Given the description of an element on the screen output the (x, y) to click on. 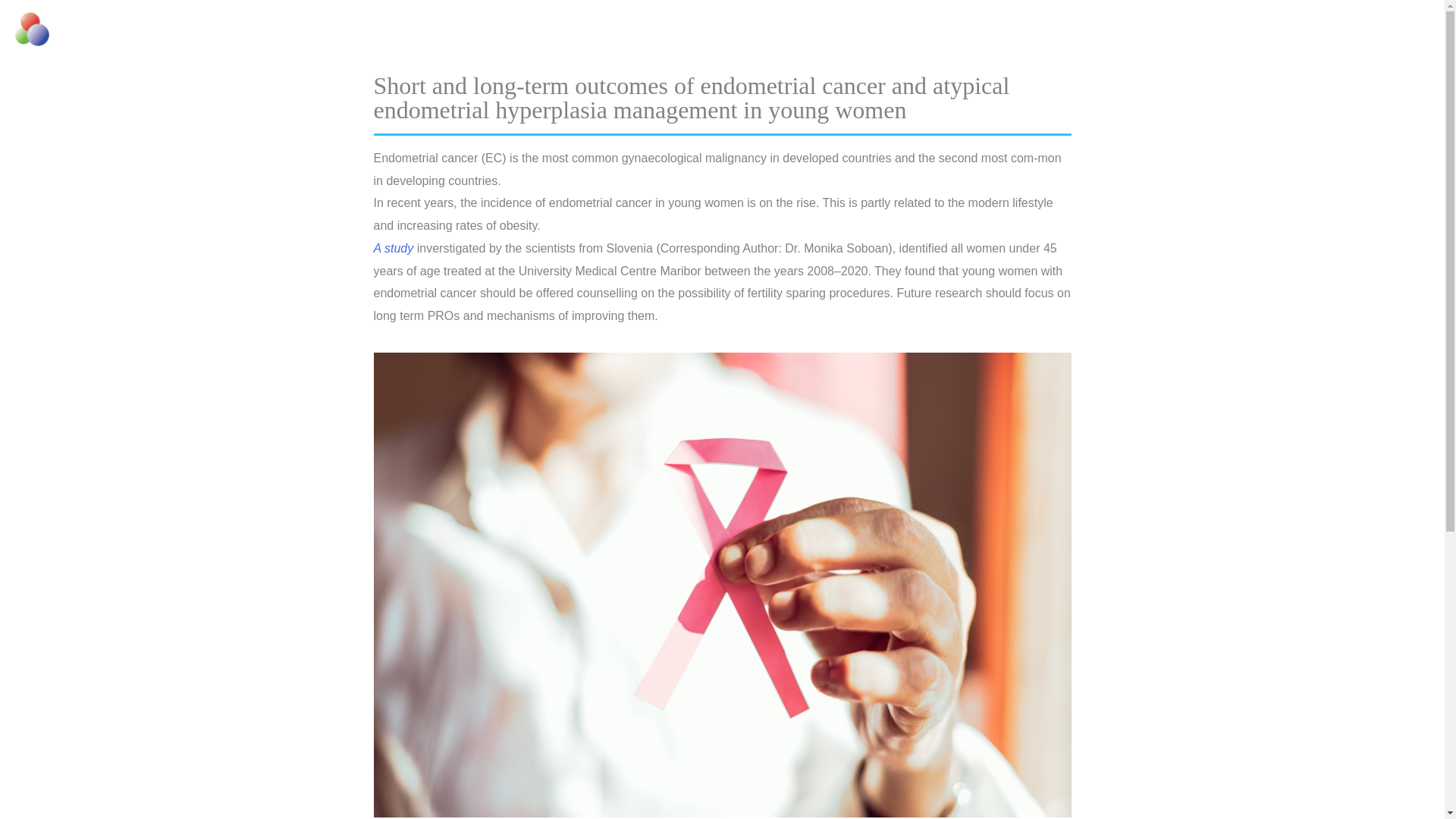
Resources (1344, 29)
MRE Press (96, 28)
Journals (1206, 29)
About (1272, 29)
